Given the description of an element on the screen output the (x, y) to click on. 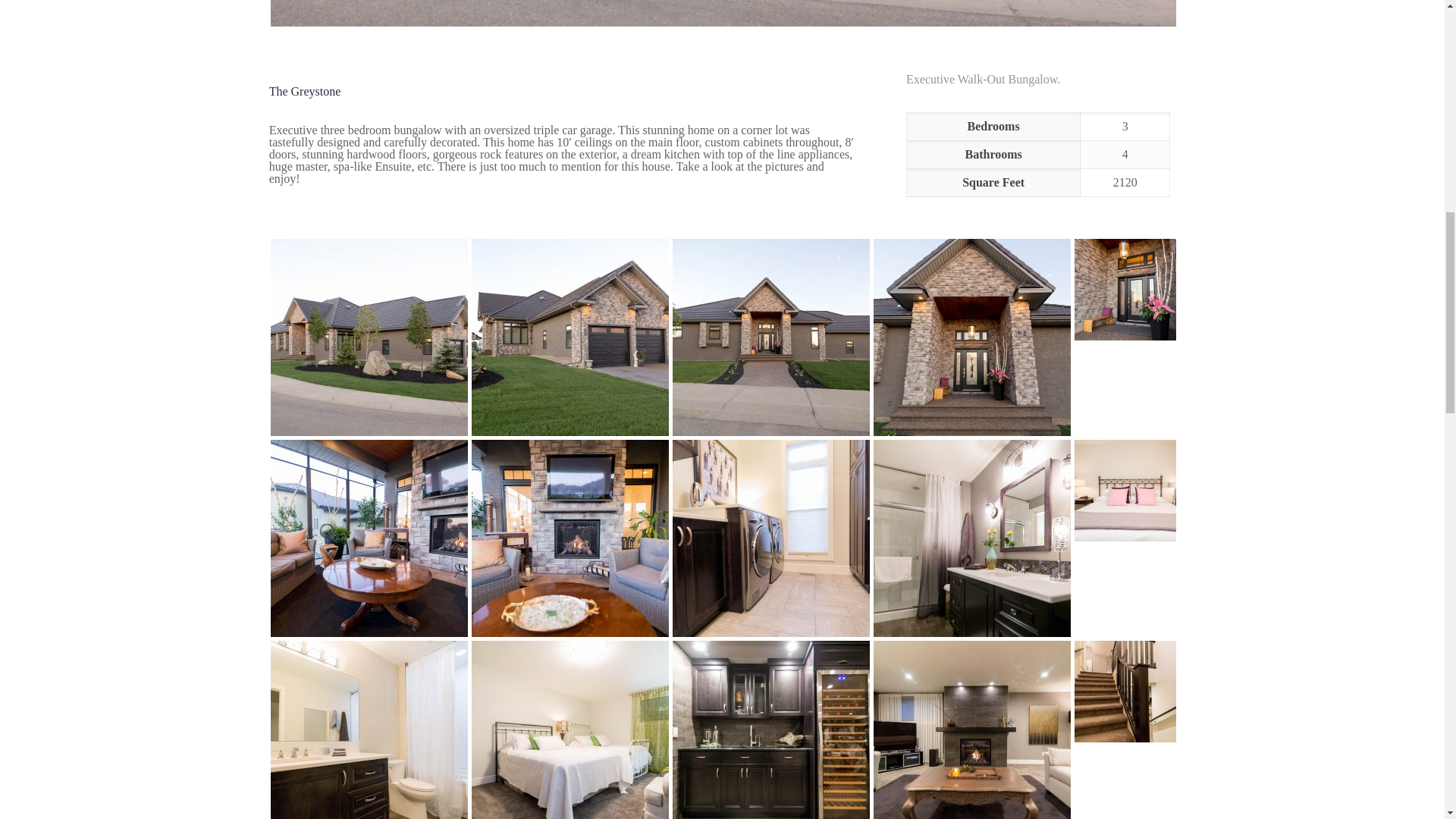
027 (971, 538)
023 (770, 729)
032 (971, 337)
028 (770, 538)
029 (569, 538)
034 (569, 337)
033 (770, 337)
022 (971, 729)
031 (1125, 290)
021 (1125, 691)
030 (368, 538)
035 (368, 337)
026 (1125, 490)
024 (569, 729)
025 (368, 729)
